Given the description of an element on the screen output the (x, y) to click on. 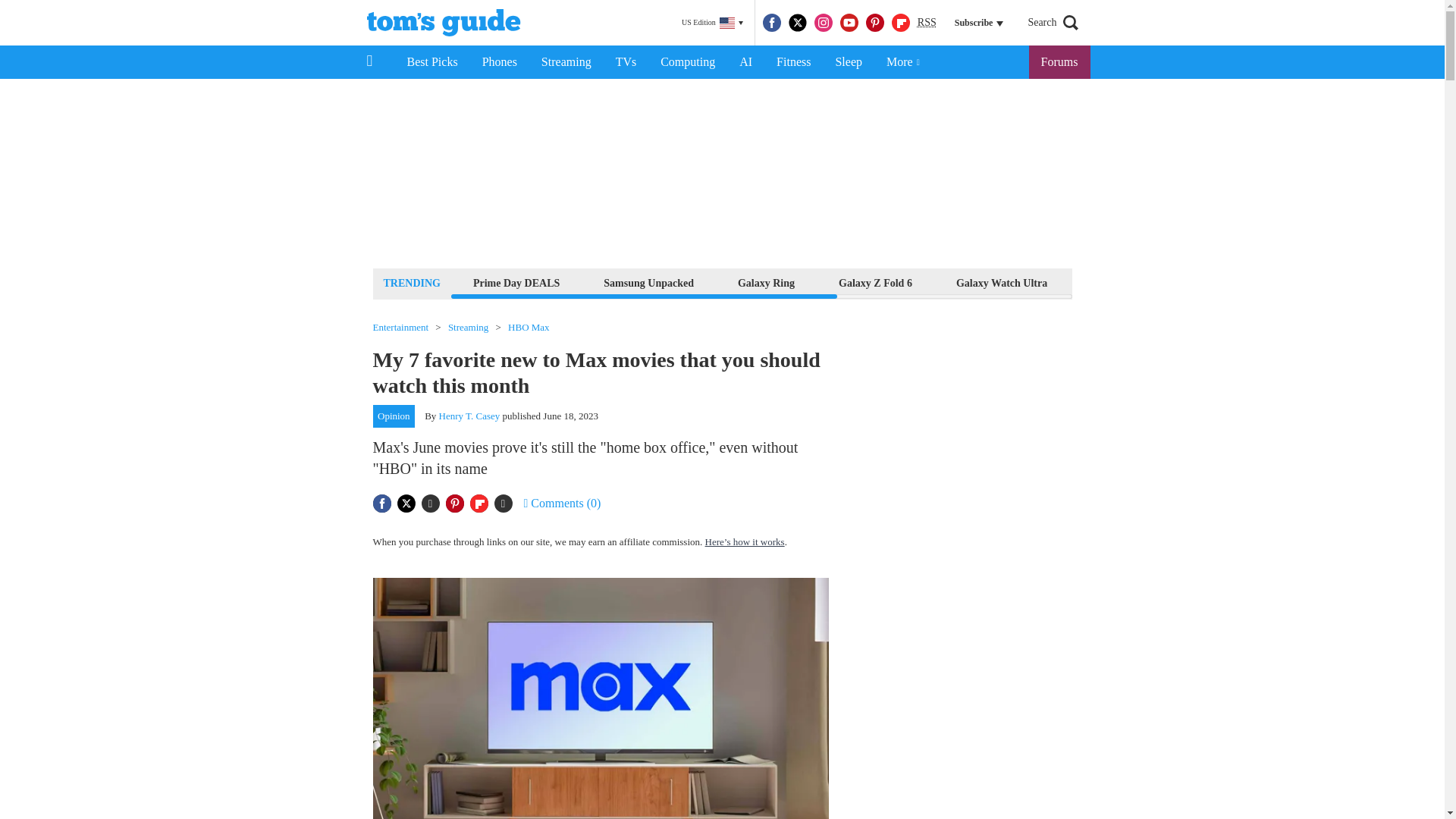
US Edition (712, 22)
Computing (686, 61)
RSS (926, 22)
Fitness (793, 61)
Phones (499, 61)
Sleep (848, 61)
Best Picks (431, 61)
TVs (626, 61)
Really Simple Syndication (926, 21)
Streaming (566, 61)
AI (745, 61)
